Given the description of an element on the screen output the (x, y) to click on. 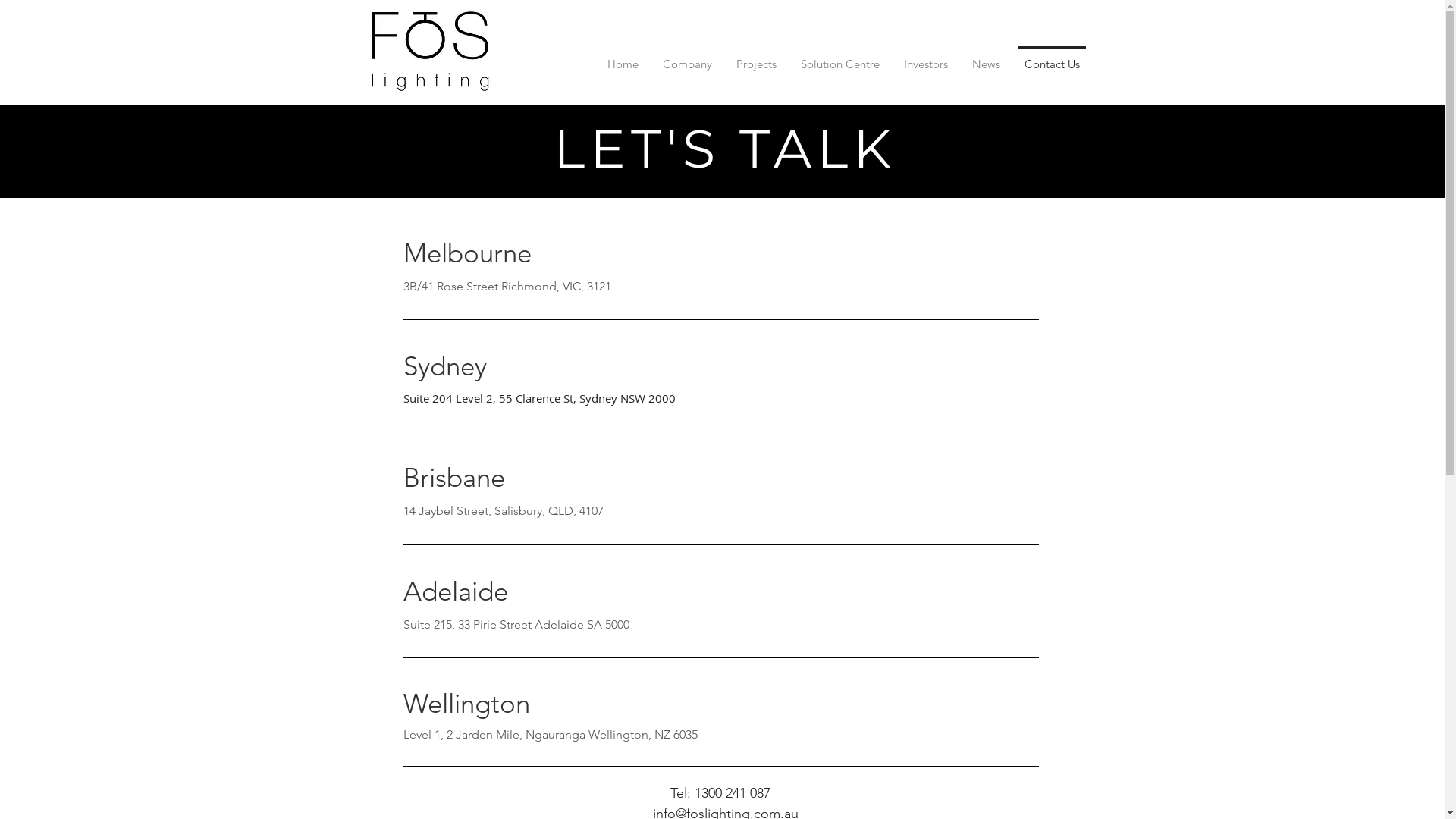
Contact Us Element type: text (1051, 57)
Solution Centre Element type: text (839, 57)
Home Element type: text (621, 57)
Projects Element type: text (755, 57)
Investors Element type: text (925, 57)
